Given the description of an element on the screen output the (x, y) to click on. 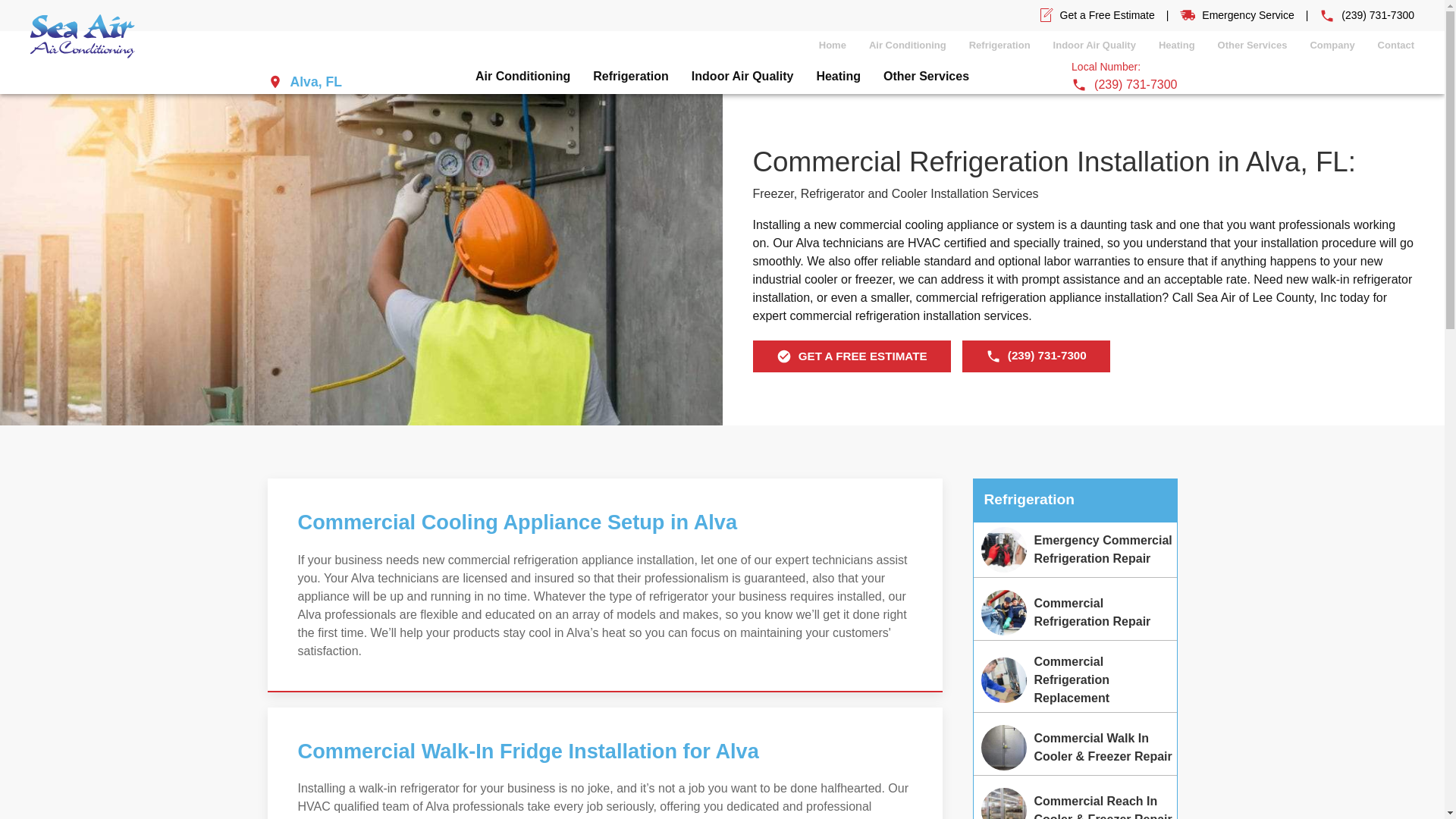
Emergency Service (1248, 15)
Refrigeration (1000, 44)
Learn More About Emergency Commercial Refrigeration Repair (1075, 549)
Indoor Air Quality (1094, 44)
Commercial Refrigeration Repair (1003, 612)
Learn More About Commercial Refrigeration Repair (1075, 612)
Get a Free Estimate (1106, 15)
Home (832, 44)
Learn More About Commercial Refrigeration Replacement (1075, 679)
Emergency Commercial Refrigeration Repair (1003, 549)
